Given the description of an element on the screen output the (x, y) to click on. 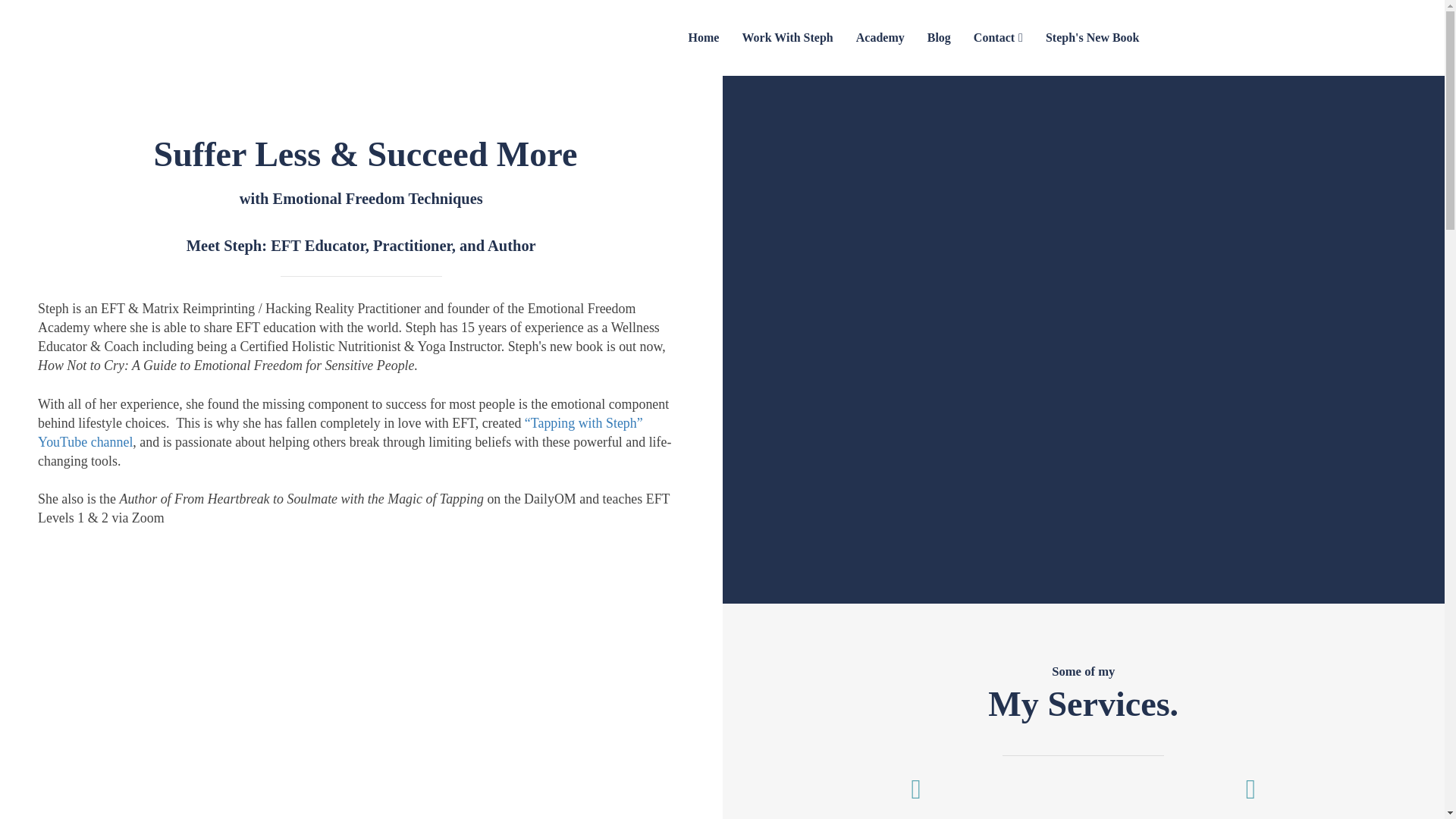
Steph's New Book (1092, 37)
Work With Steph (787, 37)
Academy (879, 37)
Home (703, 37)
Contact (997, 37)
Blog (938, 37)
